Given the description of an element on the screen output the (x, y) to click on. 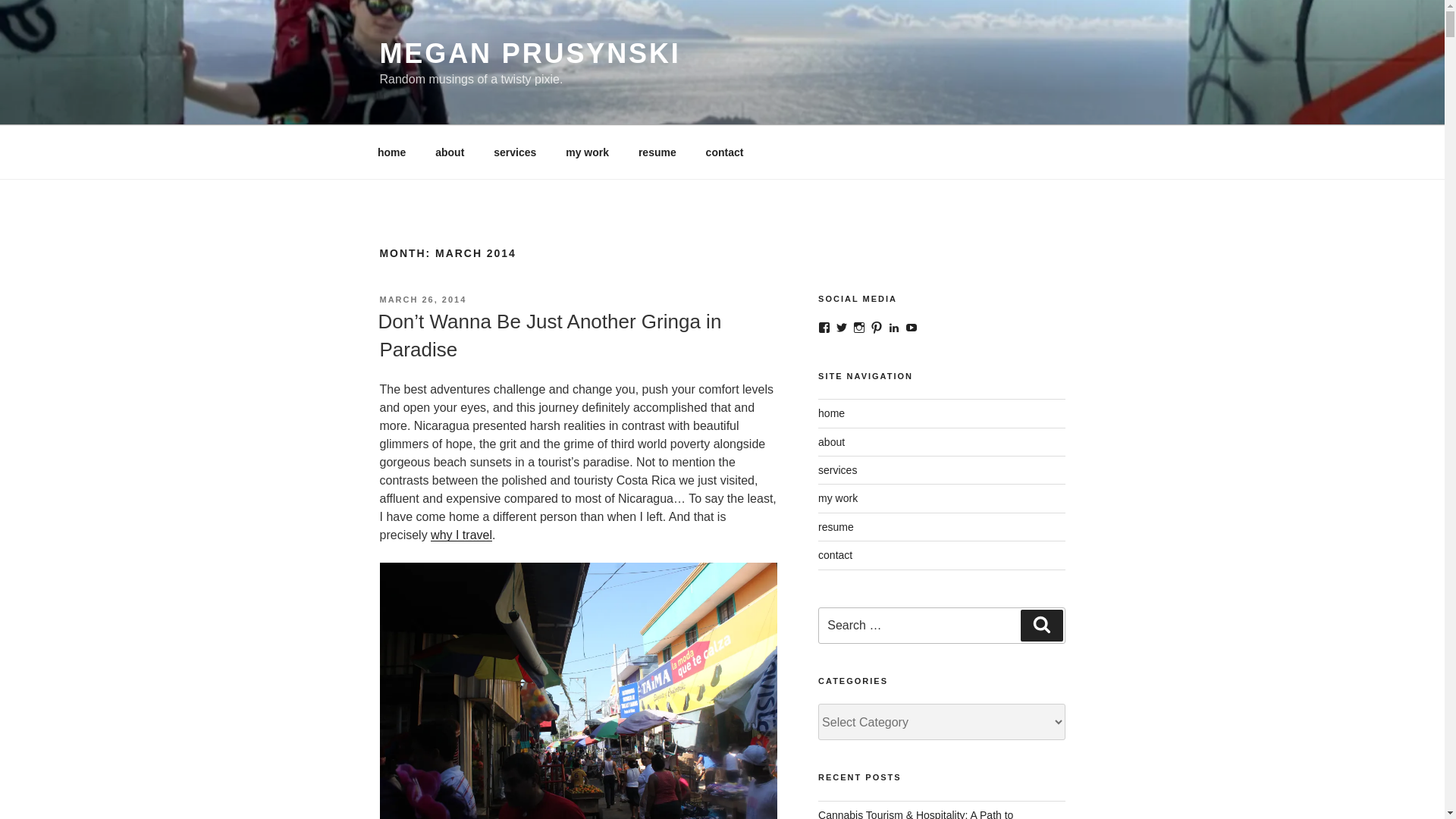
home (391, 151)
MEGAN PRUSYNSKI (528, 52)
why I travel (461, 534)
resume (656, 151)
services (515, 151)
MARCH 26, 2014 (421, 298)
resume (656, 151)
contact (725, 151)
HuffPo: The Truth About Travelers (461, 534)
about (449, 151)
my work (588, 151)
work  (588, 151)
